Given the description of an element on the screen output the (x, y) to click on. 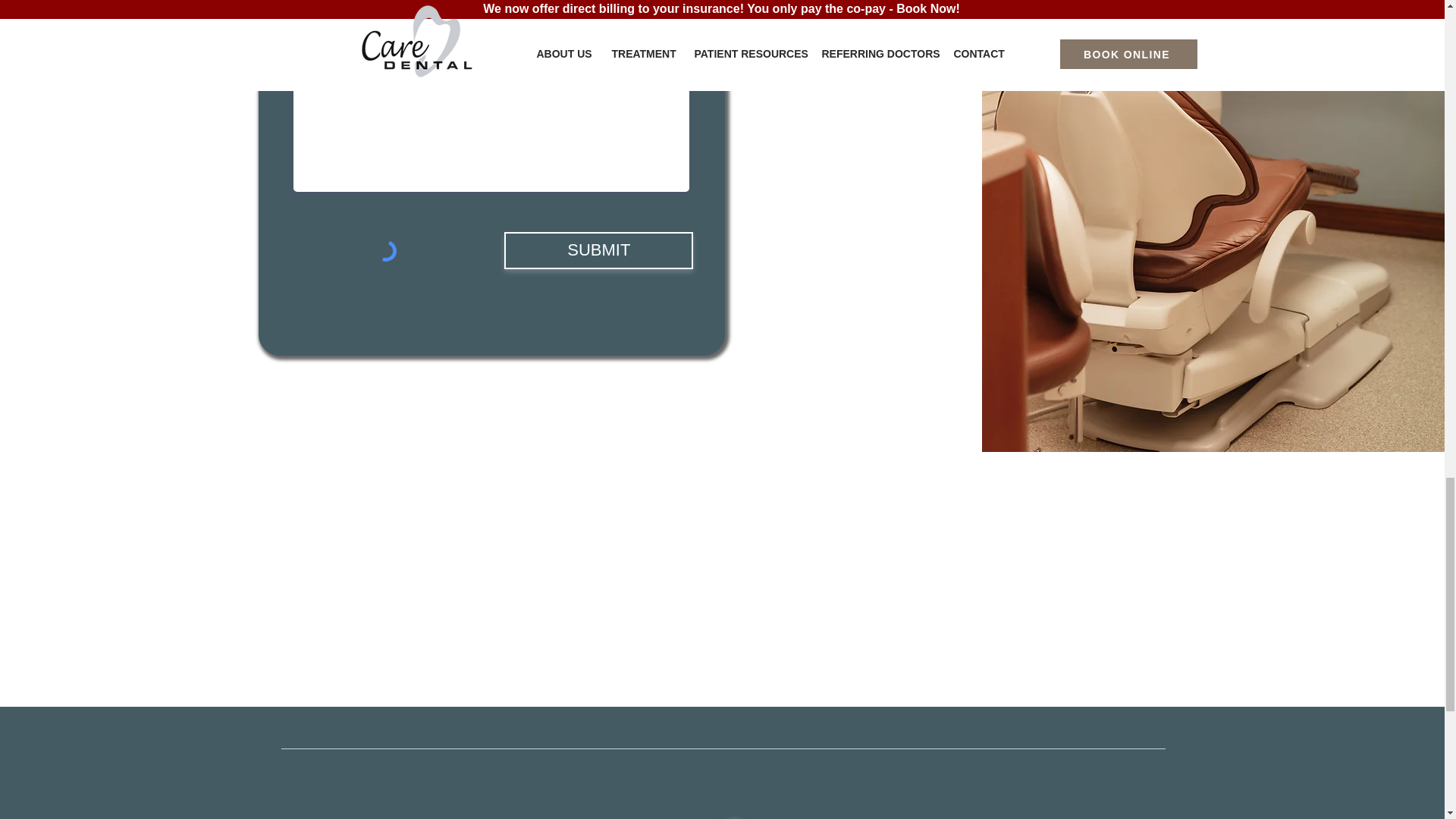
SUBMIT (598, 250)
